Given the description of an element on the screen output the (x, y) to click on. 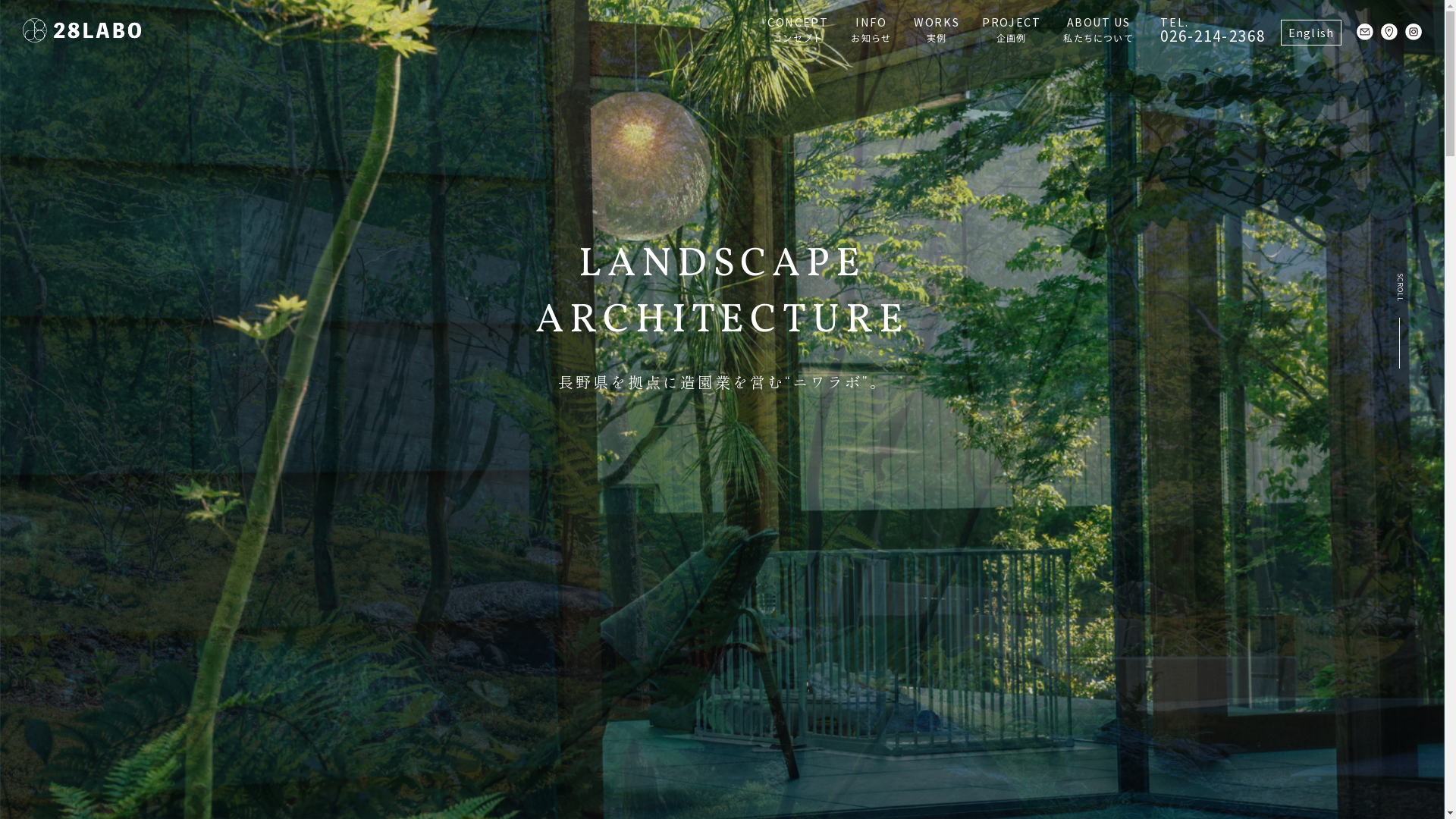
English Element type: text (1310, 32)
TEL.
026-214-2368 Element type: text (1212, 29)
